Given the description of an element on the screen output the (x, y) to click on. 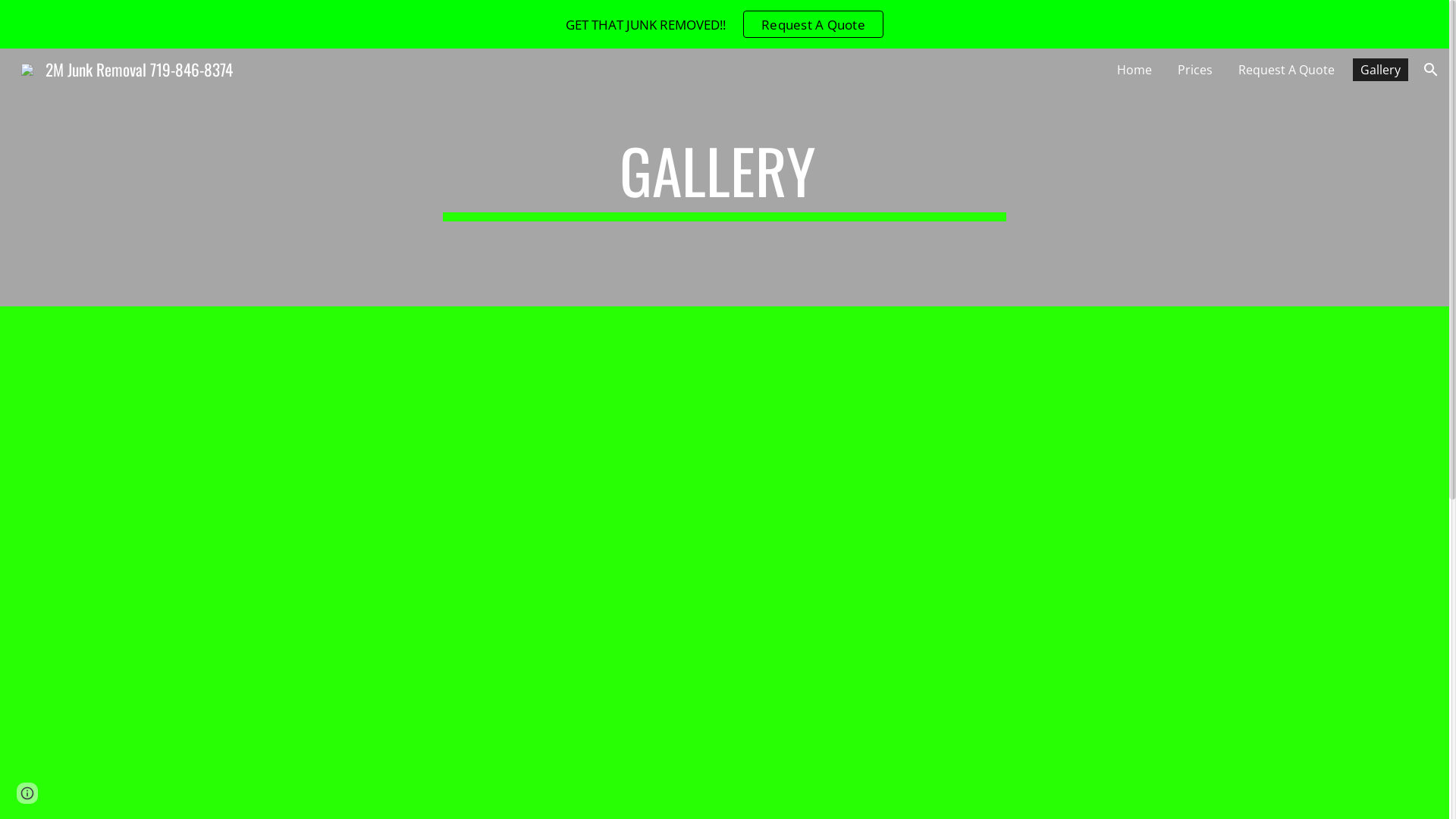
Request A Quote Element type: text (1286, 69)
Prices Element type: text (1195, 69)
Request A Quote Element type: text (812, 24)
Home Element type: text (1134, 69)
Gallery Element type: text (1380, 69)
2M Junk Removal 719-846-8374 Element type: text (126, 66)
